Given the description of an element on the screen output the (x, y) to click on. 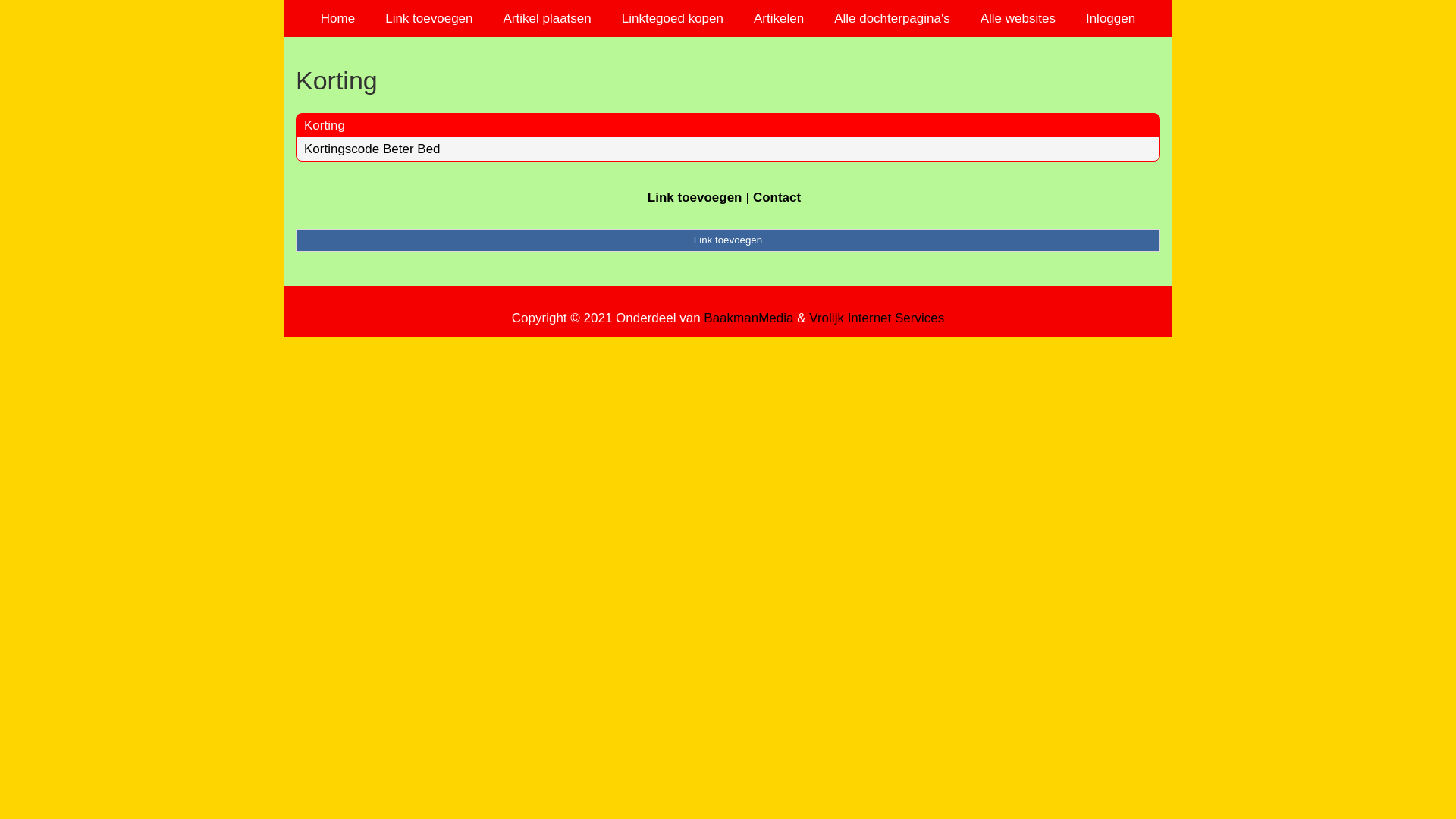
Inloggen Element type: text (1110, 18)
Artikel plaatsen Element type: text (547, 18)
Vrolijk Internet Services Element type: text (876, 318)
Kortingscode Beter Bed Element type: text (372, 148)
Alle dochterpagina's Element type: text (892, 18)
BaakmanMedia Element type: text (748, 318)
Korting Element type: text (727, 80)
Link toevoegen Element type: text (727, 240)
Alle websites Element type: text (1017, 18)
Artikelen Element type: text (778, 18)
Link toevoegen Element type: text (694, 197)
Home Element type: text (337, 18)
Korting Element type: text (324, 125)
Link toevoegen Element type: text (428, 18)
Linktegoed kopen Element type: text (672, 18)
Contact Element type: text (776, 197)
